Given the description of an element on the screen output the (x, y) to click on. 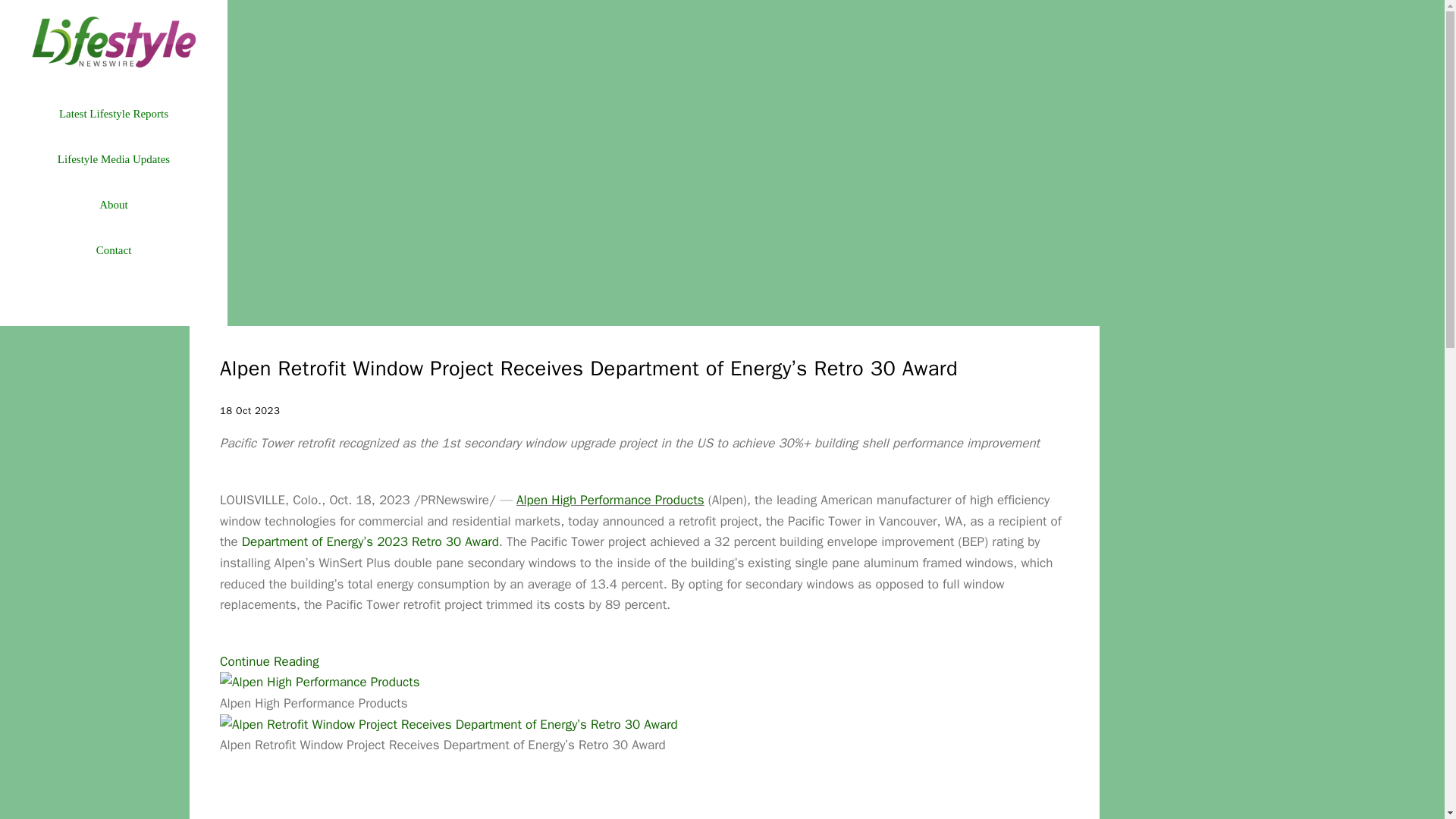
Lifestyle Media Updates (113, 158)
Alpen High Performance Products (319, 681)
Latest Lifestyle Reports (113, 113)
Alpen High Performance Products (610, 499)
Continue Reading (268, 661)
Continue Reading (268, 661)
Contact (113, 249)
About (113, 204)
